Given the description of an element on the screen output the (x, y) to click on. 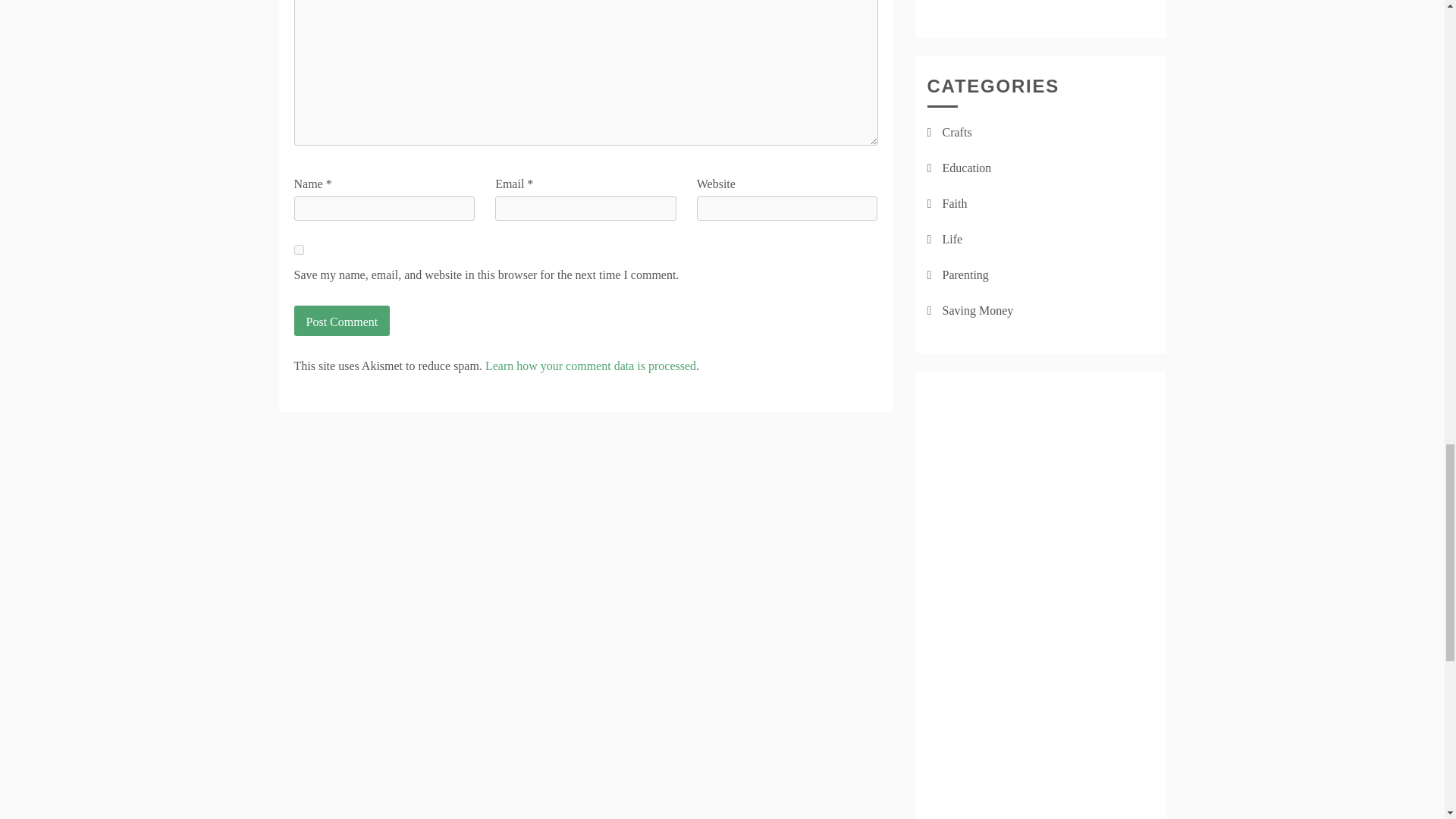
Crafts (956, 132)
Education (966, 167)
yes (299, 249)
Learn how your comment data is processed (589, 365)
Faith (954, 203)
Life (952, 238)
Post Comment (342, 320)
Post Comment (342, 320)
Saving Money (977, 309)
Parenting (965, 274)
